Given the description of an element on the screen output the (x, y) to click on. 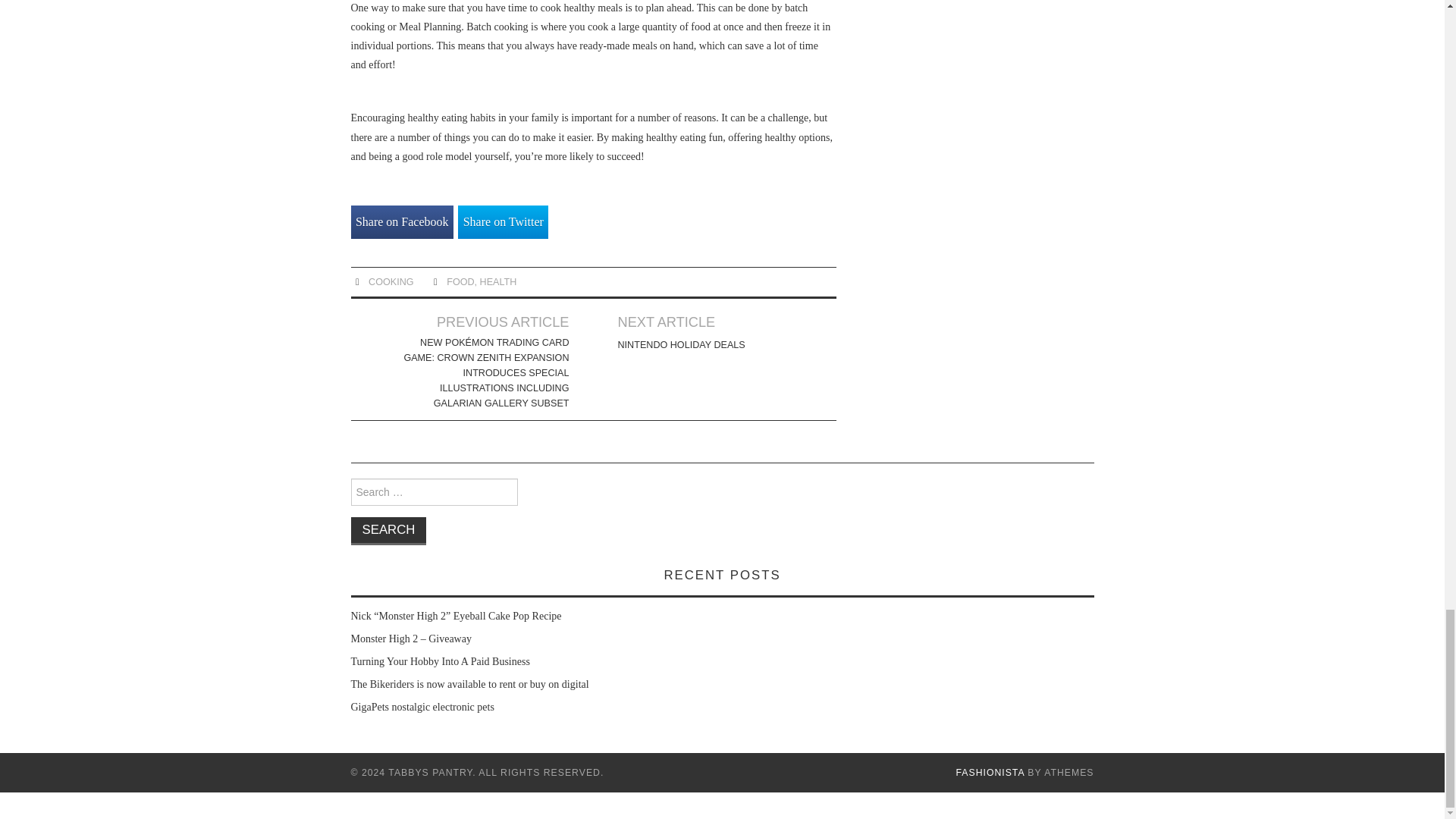
Share on Facebook (401, 222)
Search (388, 530)
NINTENDO HOLIDAY DEALS (680, 344)
COOKING (390, 281)
Share on Twitter (503, 222)
FOOD (460, 281)
Search (388, 530)
Search for: (433, 492)
HEALTH (498, 281)
